Given the description of an element on the screen output the (x, y) to click on. 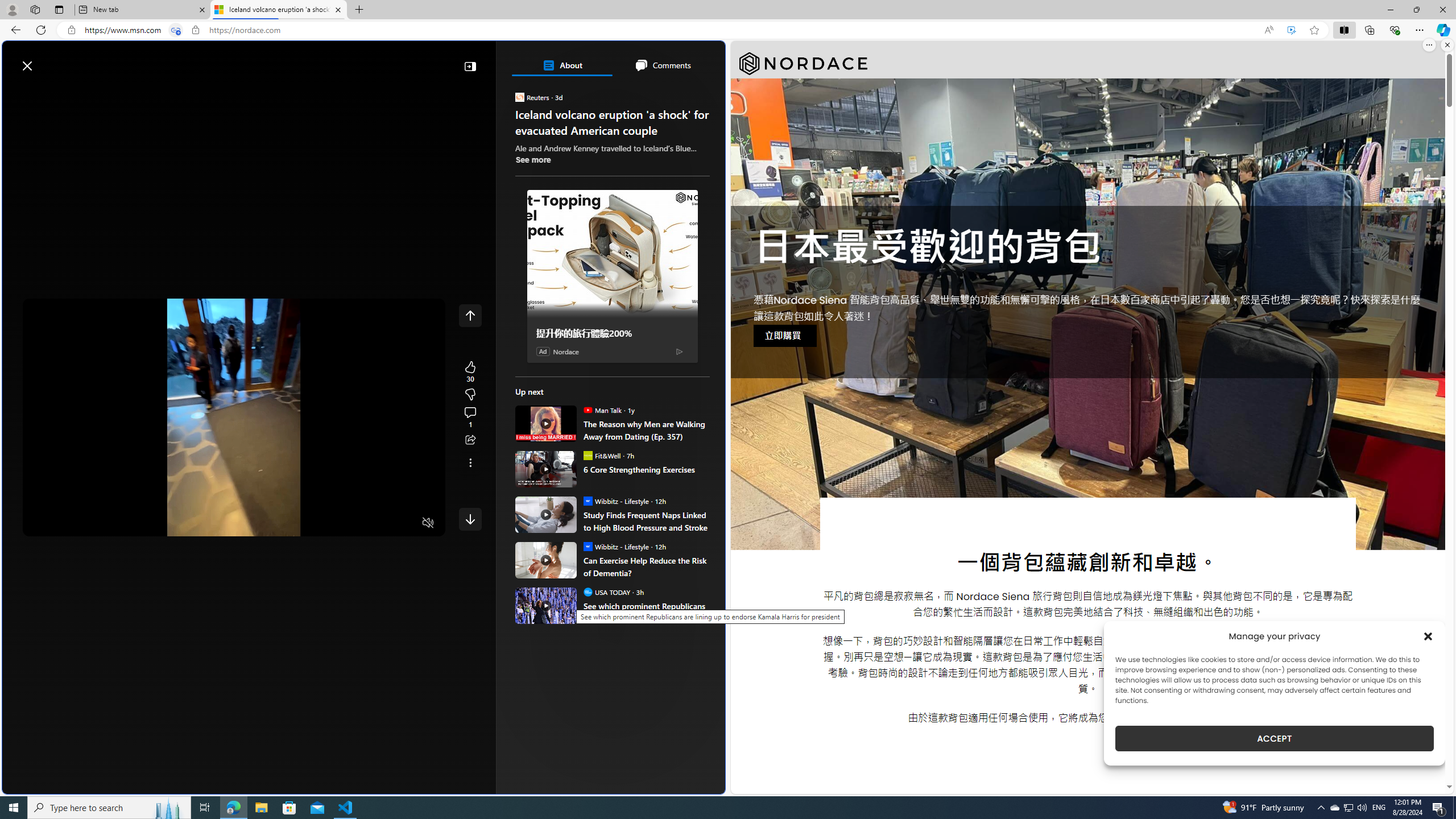
Enter your search term (366, 59)
Can Exercise Help Reduce the Risk of Dementia? (646, 566)
Share this story (469, 440)
Personalize (679, 92)
Pause (39, 523)
About (561, 64)
The Reason why Men are Walking Away from Dating (Ep. 357) (646, 430)
